Given the description of an element on the screen output the (x, y) to click on. 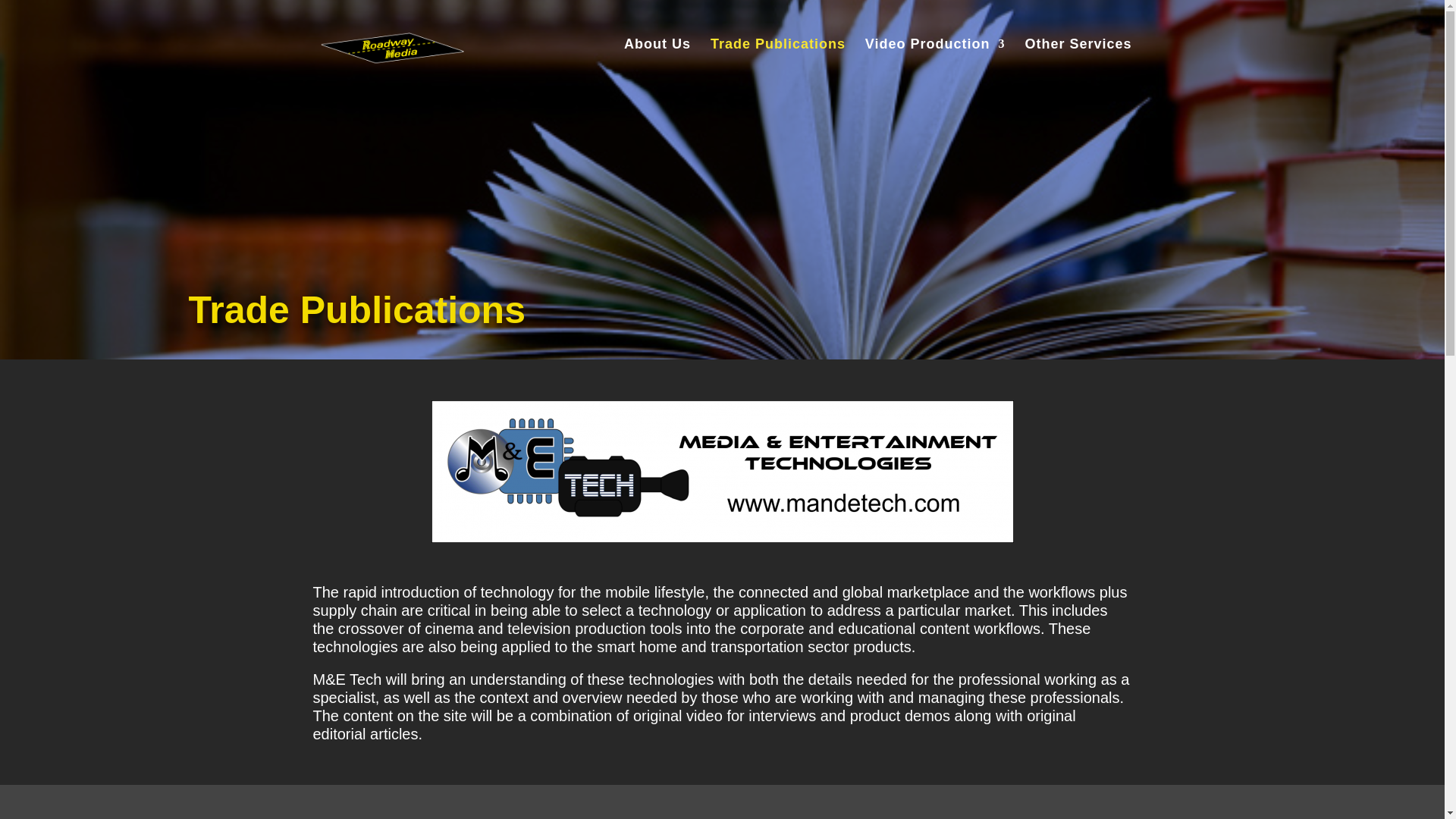
About Us (657, 62)
Other Services (1078, 62)
Video Production (935, 62)
Trade Publications (777, 62)
